Given the description of an element on the screen output the (x, y) to click on. 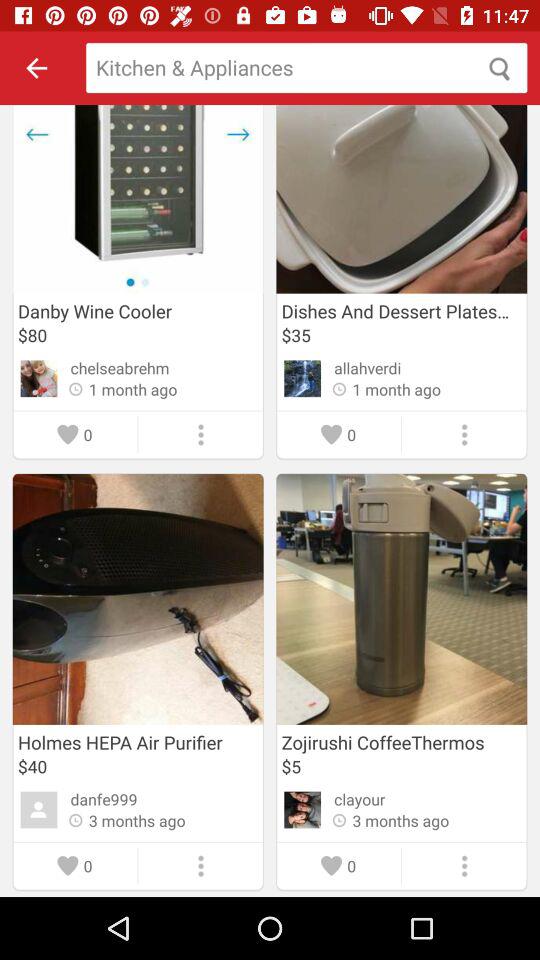
search (306, 67)
